Given the description of an element on the screen output the (x, y) to click on. 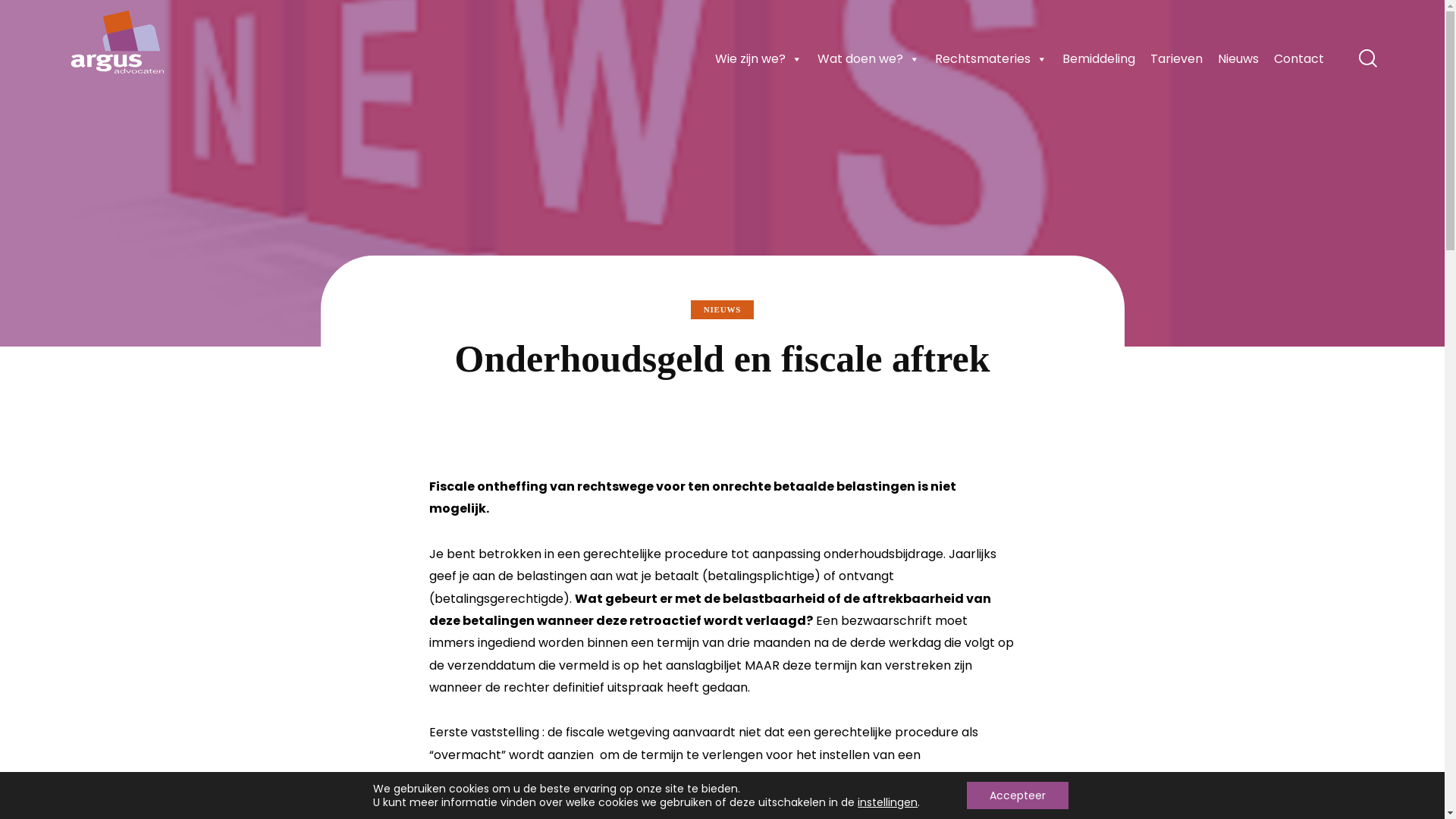
Rechtsmateries Element type: text (991, 58)
Tarieven Element type: text (1176, 58)
instellingen Element type: text (887, 802)
Contact Element type: text (1299, 58)
NIEUWS Element type: text (721, 309)
Nieuws Element type: text (1237, 58)
Wat doen we? Element type: text (868, 58)
Wie zijn we? Element type: text (758, 58)
Accepteer Element type: text (1017, 795)
Bemiddeling Element type: text (1098, 58)
